Given the description of an element on the screen output the (x, y) to click on. 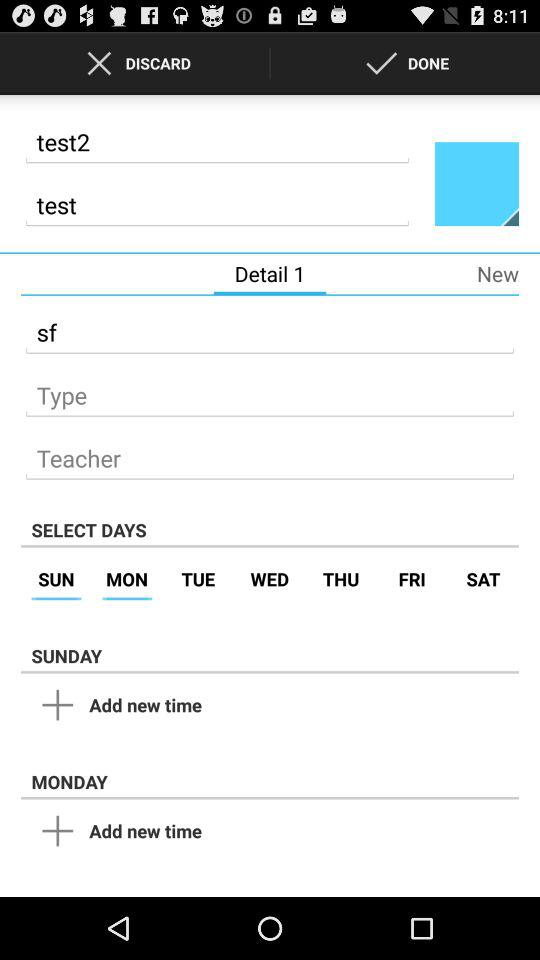
change color (477, 183)
